Given the description of an element on the screen output the (x, y) to click on. 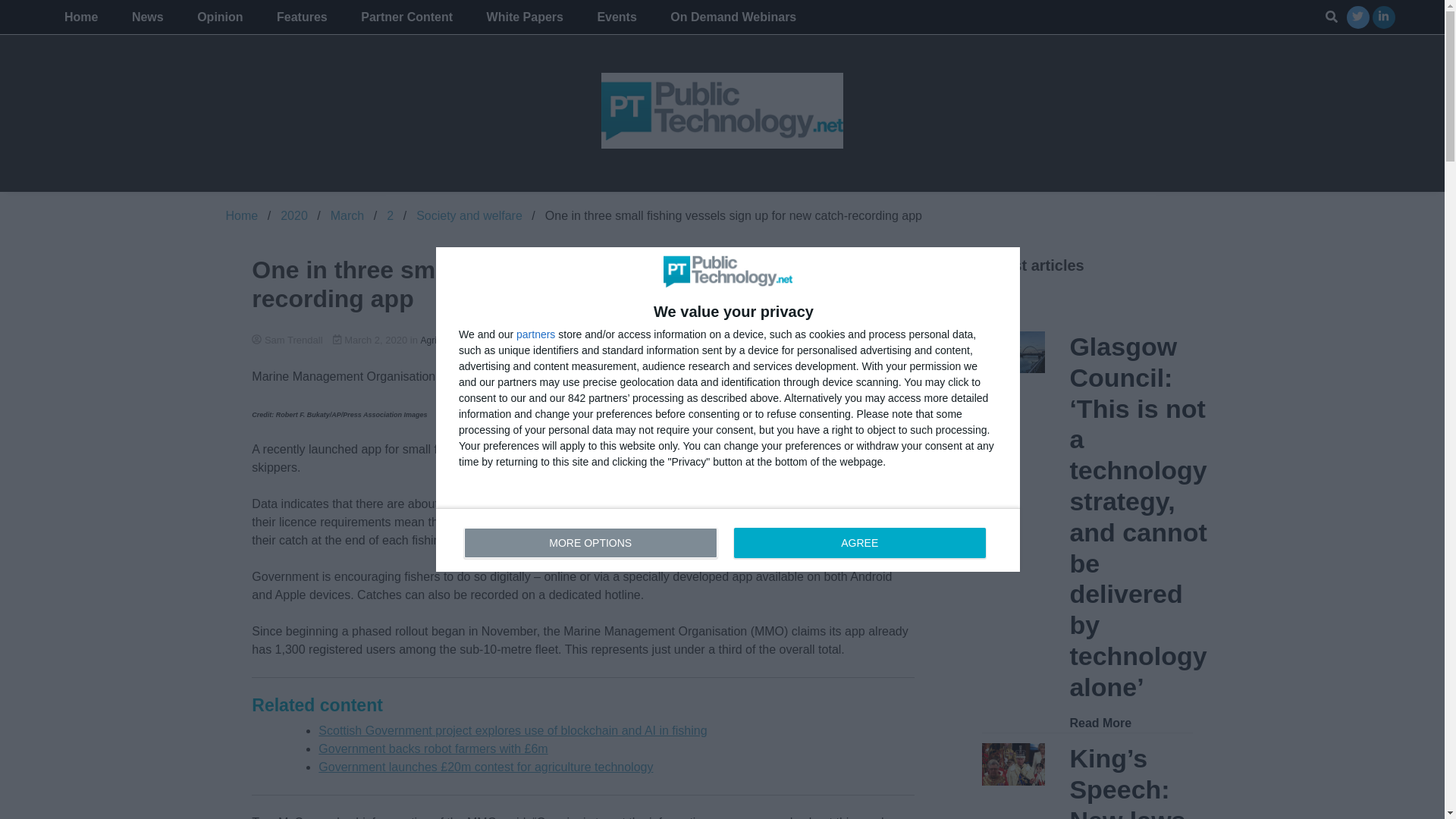
2020 (294, 215)
Sam Trendall (582, 340)
Events (615, 17)
Features (302, 17)
AGREE (859, 542)
Society and welfare (469, 215)
Home (242, 215)
March (347, 215)
March 2, 2020 (371, 339)
Opinion (219, 17)
Estimated Reading Time of Article (811, 339)
Transformation (750, 339)
Agriculture And Rural Affairs (477, 340)
Society And Welfare (580, 340)
News (147, 17)
